Given the description of an element on the screen output the (x, y) to click on. 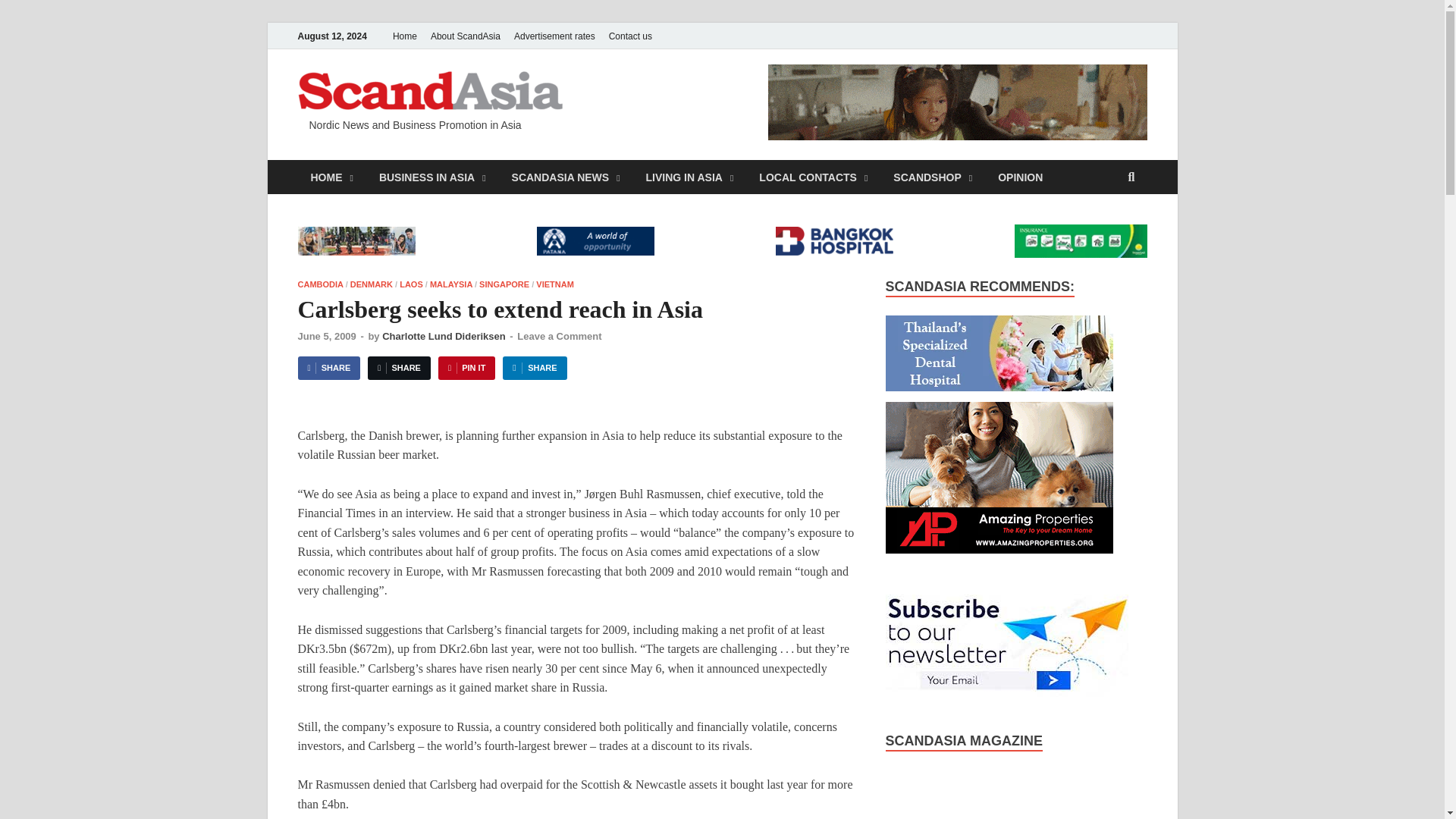
Contact us (630, 35)
Advertisement rates (554, 35)
Home (404, 35)
About ScandAsia (464, 35)
HOME (331, 176)
BUSINESS IN ASIA (432, 176)
